Given the description of an element on the screen output the (x, y) to click on. 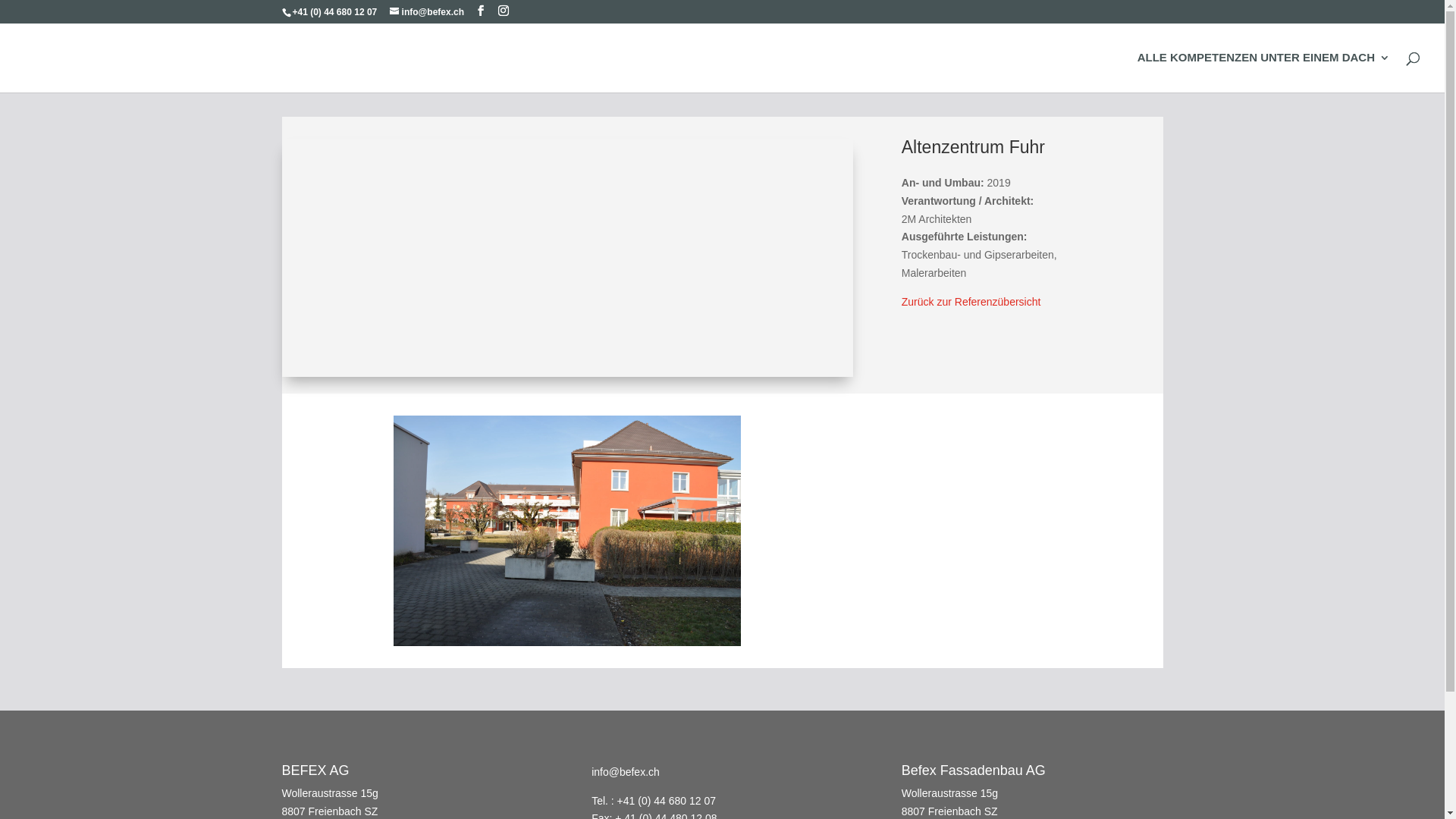
ALLE KOMPETENZEN UNTER EINEM DACH Element type: text (1263, 72)
info@befex.ch Element type: text (426, 11)
